Given the description of an element on the screen output the (x, y) to click on. 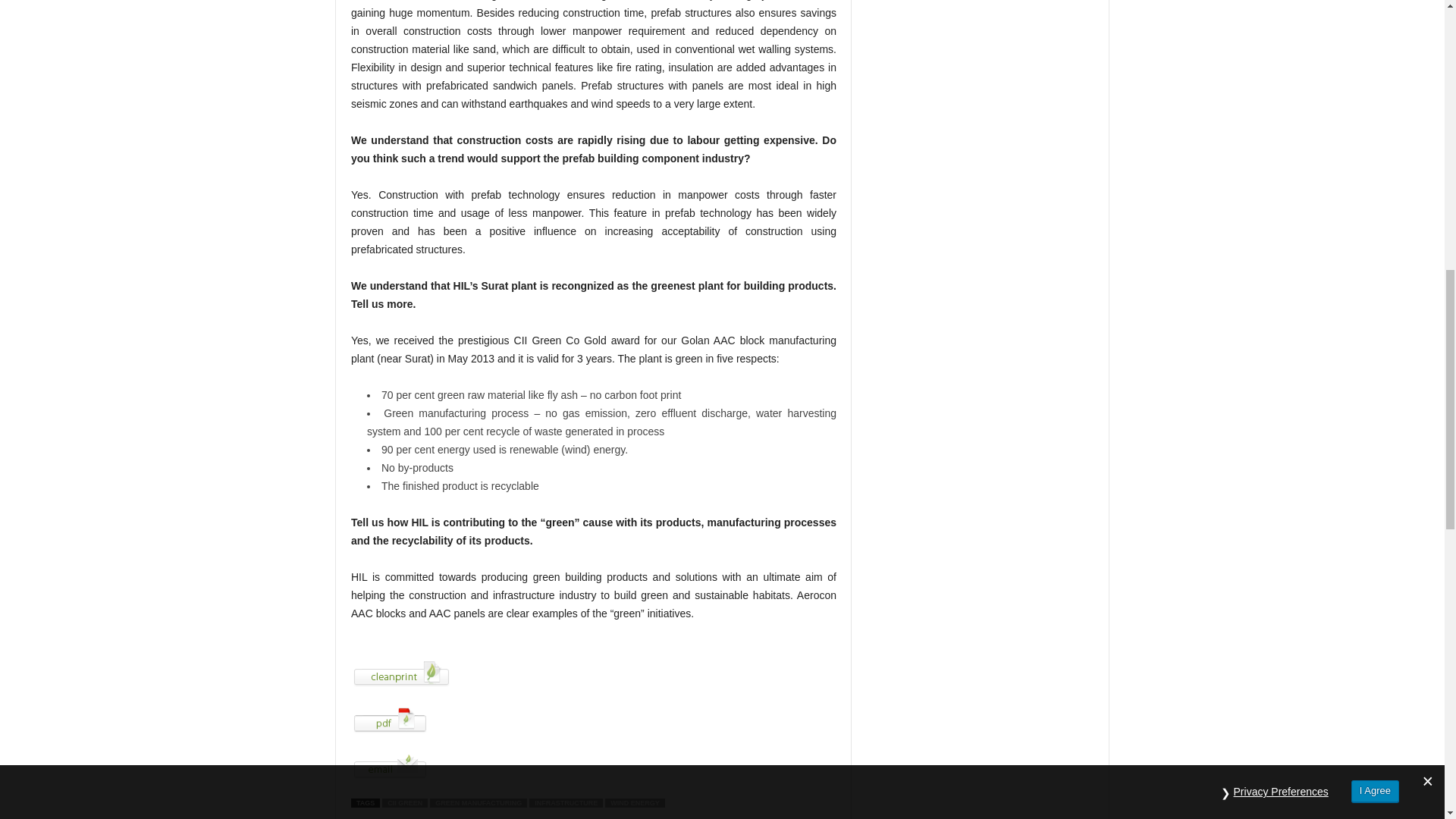
INFRASTRUCTURE (565, 802)
WIND ENERGY (635, 802)
Print page (592, 674)
PDF page (592, 720)
Email page (592, 766)
CII GREEN (404, 802)
GREEN MANUFACTURING (478, 802)
